Given the description of an element on the screen output the (x, y) to click on. 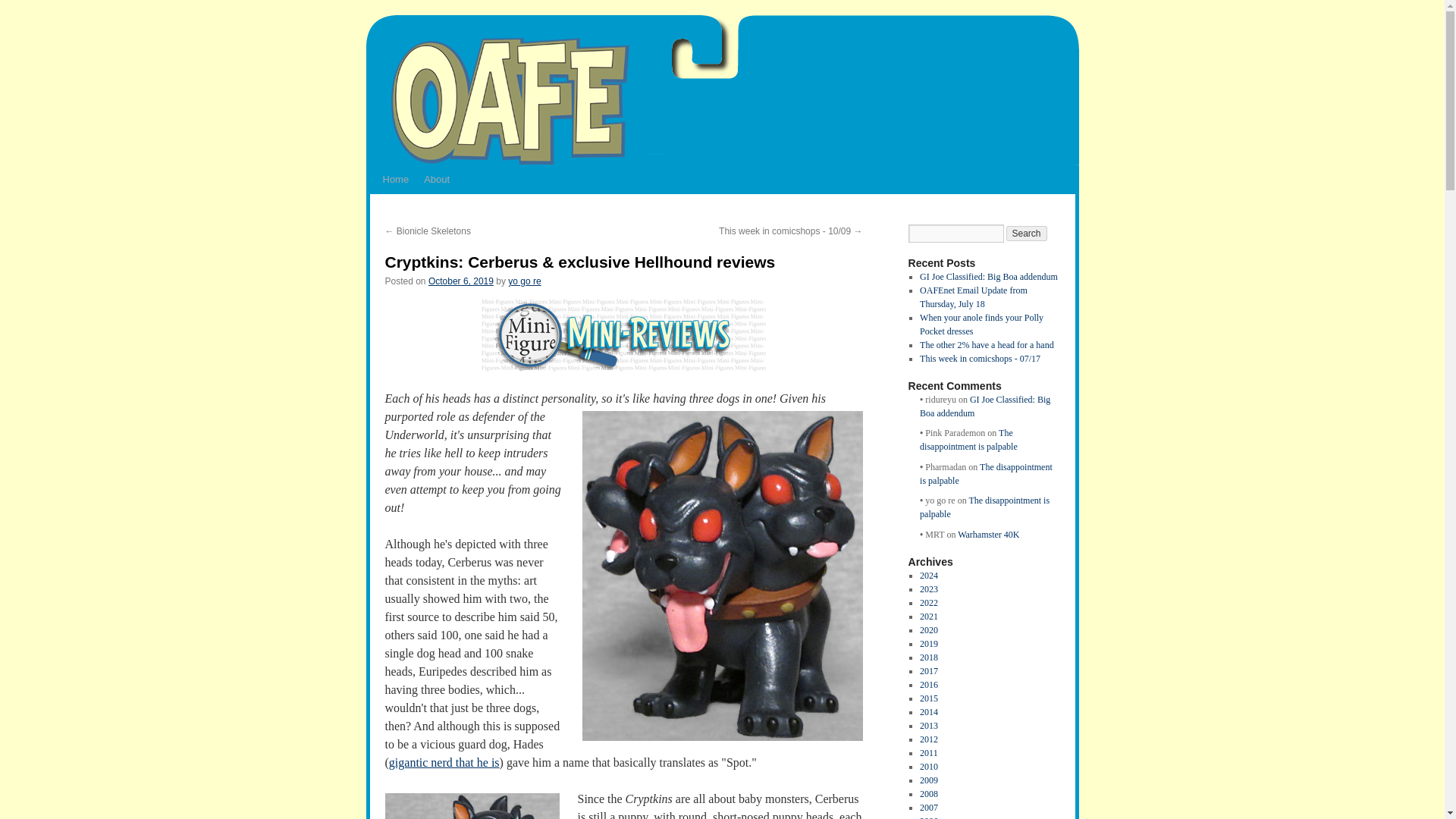
12:00 am (460, 281)
View all posts by yo go re (524, 281)
Search (1026, 233)
yo go re (524, 281)
gigantic nerd that he is (443, 762)
Home (395, 179)
Skip to content (372, 207)
Mini-Figure Mini Reviews (623, 335)
Search (1026, 233)
the tail is a slightly different color (472, 806)
October 6, 2019 (460, 281)
About (436, 179)
